Given the description of an element on the screen output the (x, y) to click on. 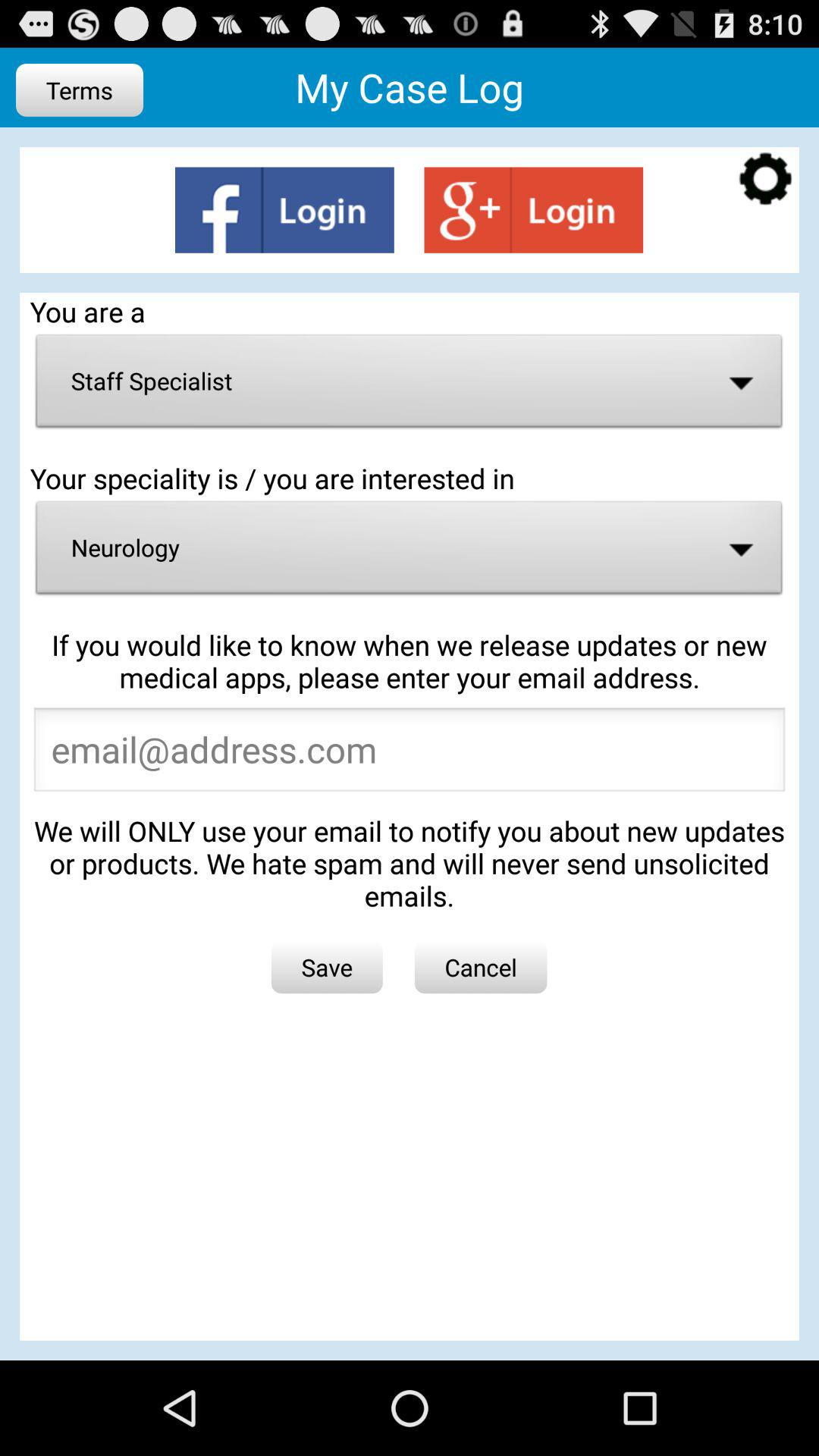
settings (765, 180)
